Given the description of an element on the screen output the (x, y) to click on. 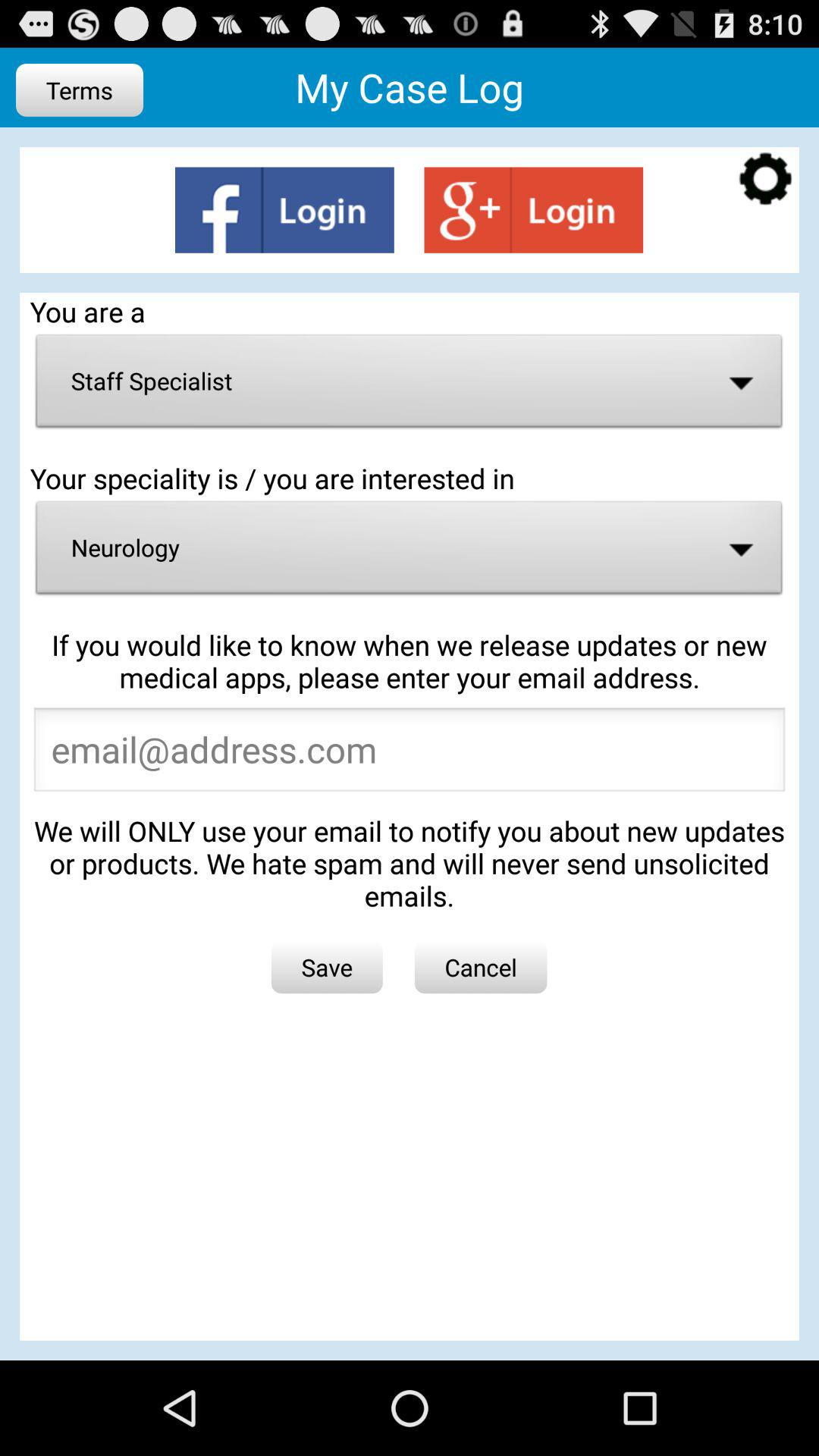
settings (765, 180)
